Given the description of an element on the screen output the (x, y) to click on. 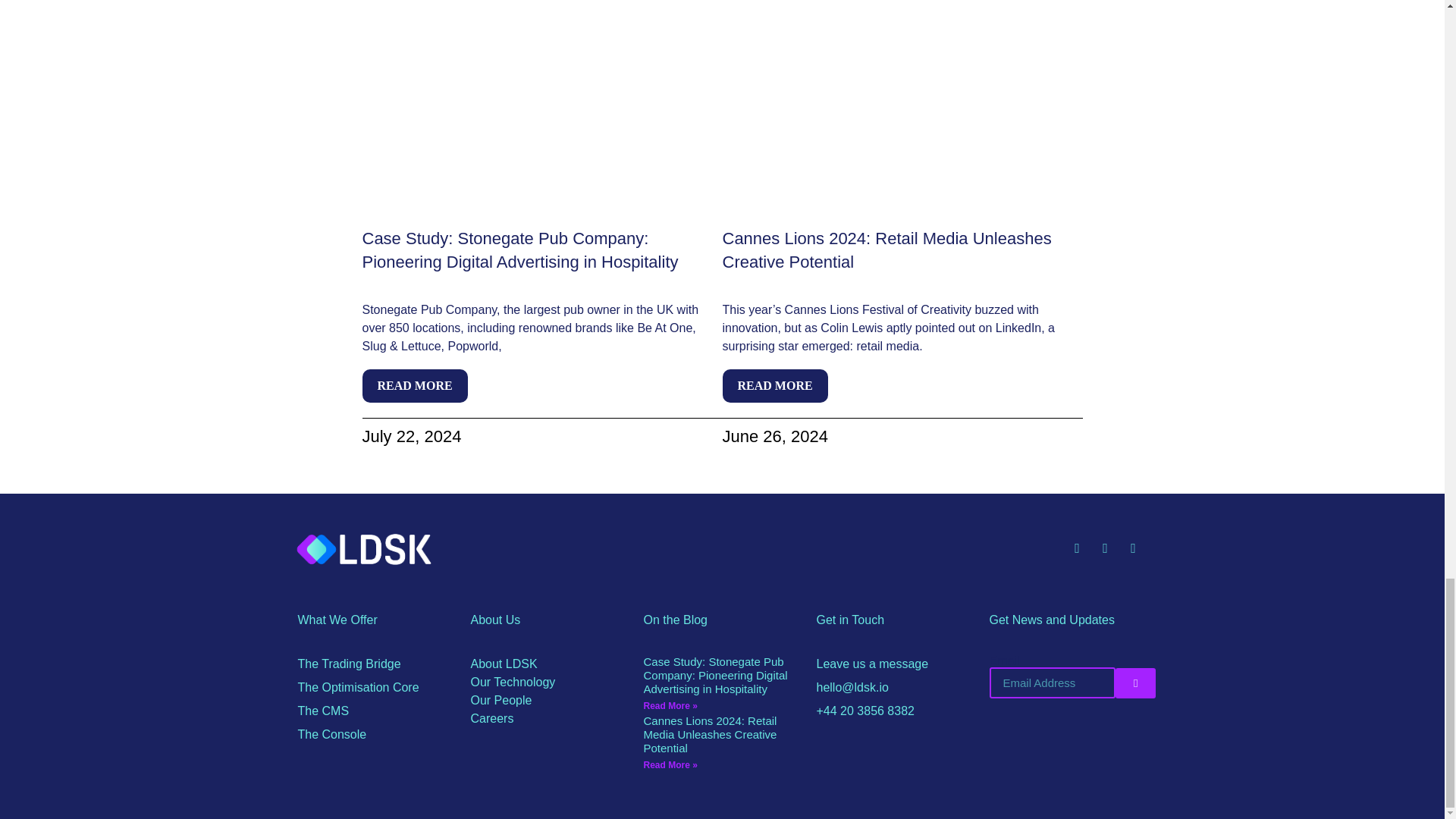
Careers (548, 719)
The Console (375, 734)
The CMS (375, 710)
READ MORE (774, 385)
About LDSK (548, 664)
Our Technology (548, 682)
Our People (548, 700)
Leave us a message (894, 664)
Cannes Lions 2024: Retail Media Unleashes Creative Potential (886, 250)
READ MORE (414, 385)
The Optimisation Core (375, 687)
Cannes Lions 2024: Retail Media Unleashes Creative Potential (709, 734)
The Trading Bridge (375, 664)
